Given the description of an element on the screen output the (x, y) to click on. 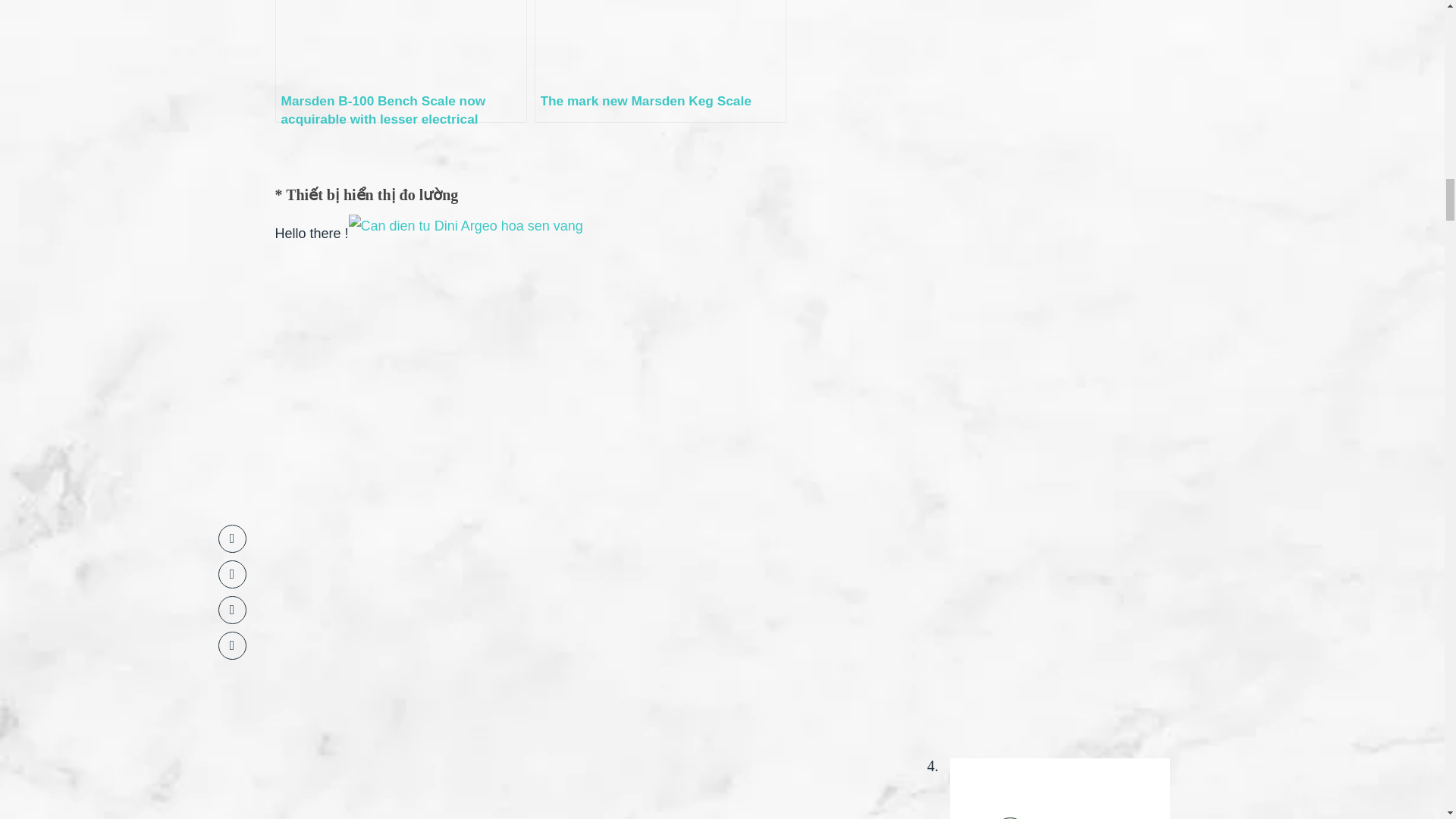
The mark new Marsden Keg Scale (660, 61)
